Given the description of an element on the screen output the (x, y) to click on. 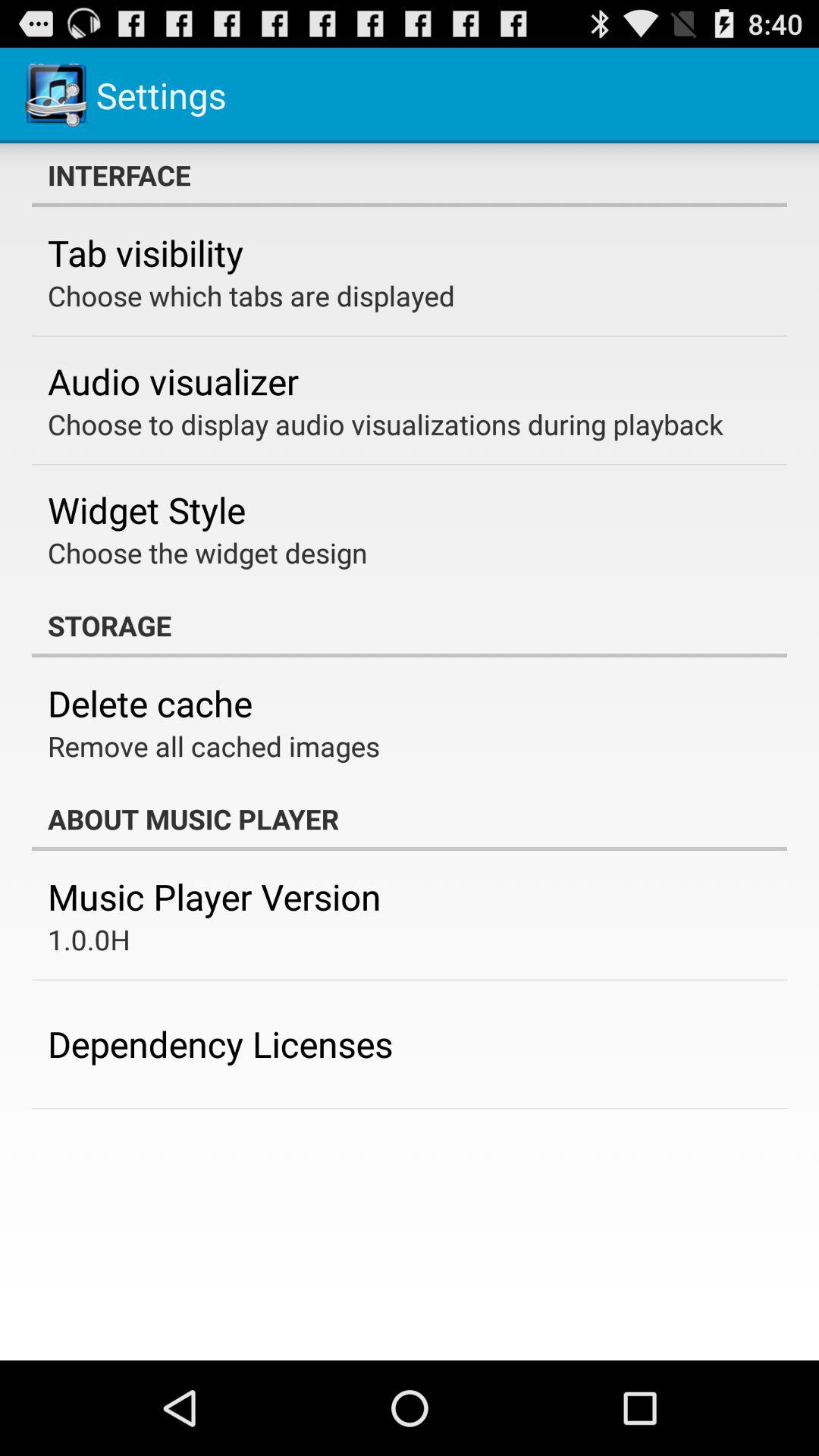
press the icon above the choose which tabs item (145, 252)
